Given the description of an element on the screen output the (x, y) to click on. 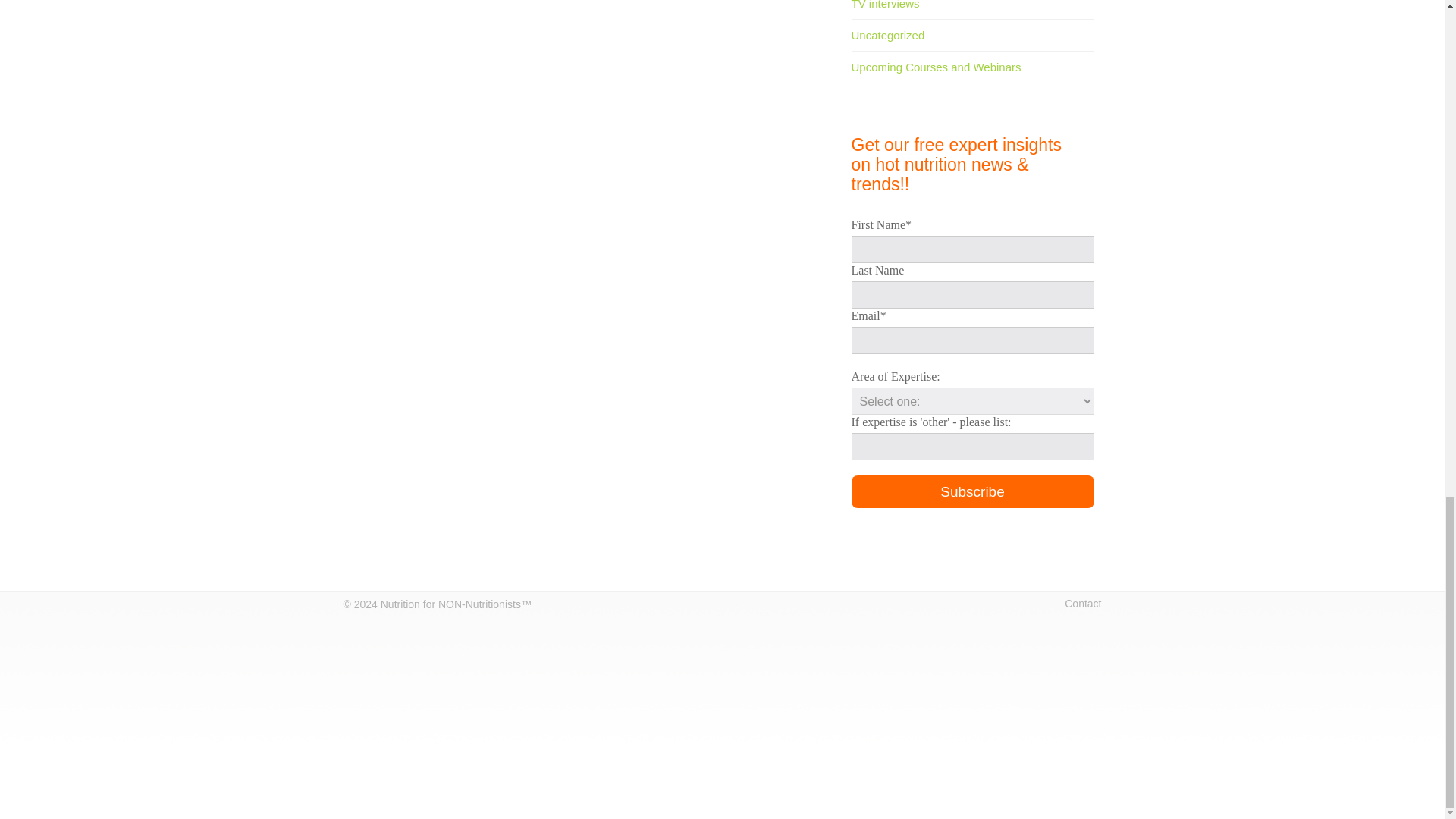
Subscribe (971, 491)
